Given the description of an element on the screen output the (x, y) to click on. 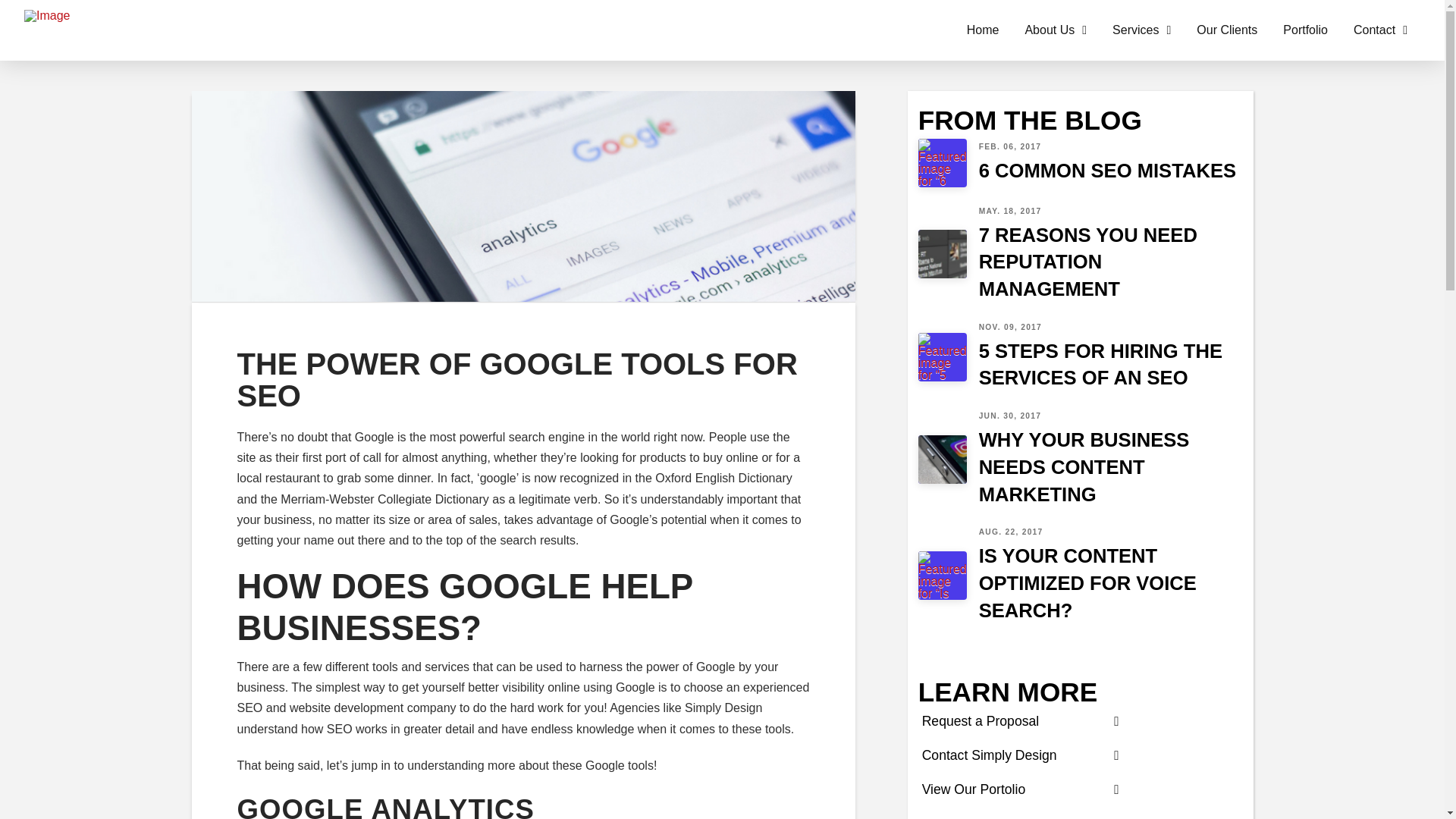
Services (1080, 356)
About Us (1141, 30)
Portfolio (1080, 162)
Request a Proposal (1055, 30)
Contact Simply Design (1304, 30)
View Our Portolio (1020, 721)
Contact (1020, 755)
